Given the description of an element on the screen output the (x, y) to click on. 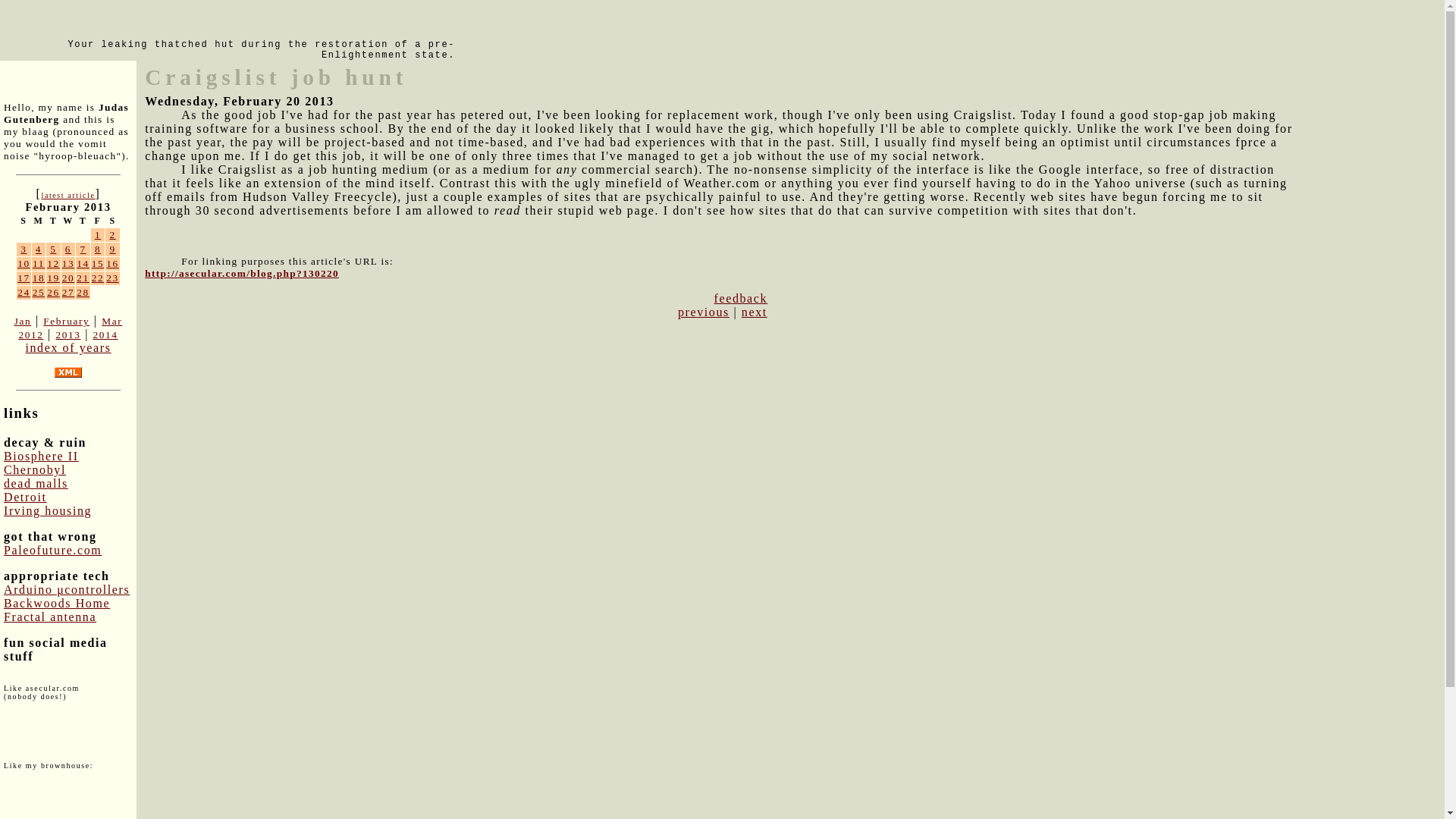
10 (23, 263)
Jan (23, 320)
latest article (67, 194)
21 (82, 277)
Biosphere II (41, 455)
13 (68, 263)
28 (82, 292)
27 (68, 292)
index of years (67, 347)
16 (112, 263)
14 (82, 263)
20 (68, 277)
23 (112, 277)
2013 (67, 334)
12 (52, 263)
